Given the description of an element on the screen output the (x, y) to click on. 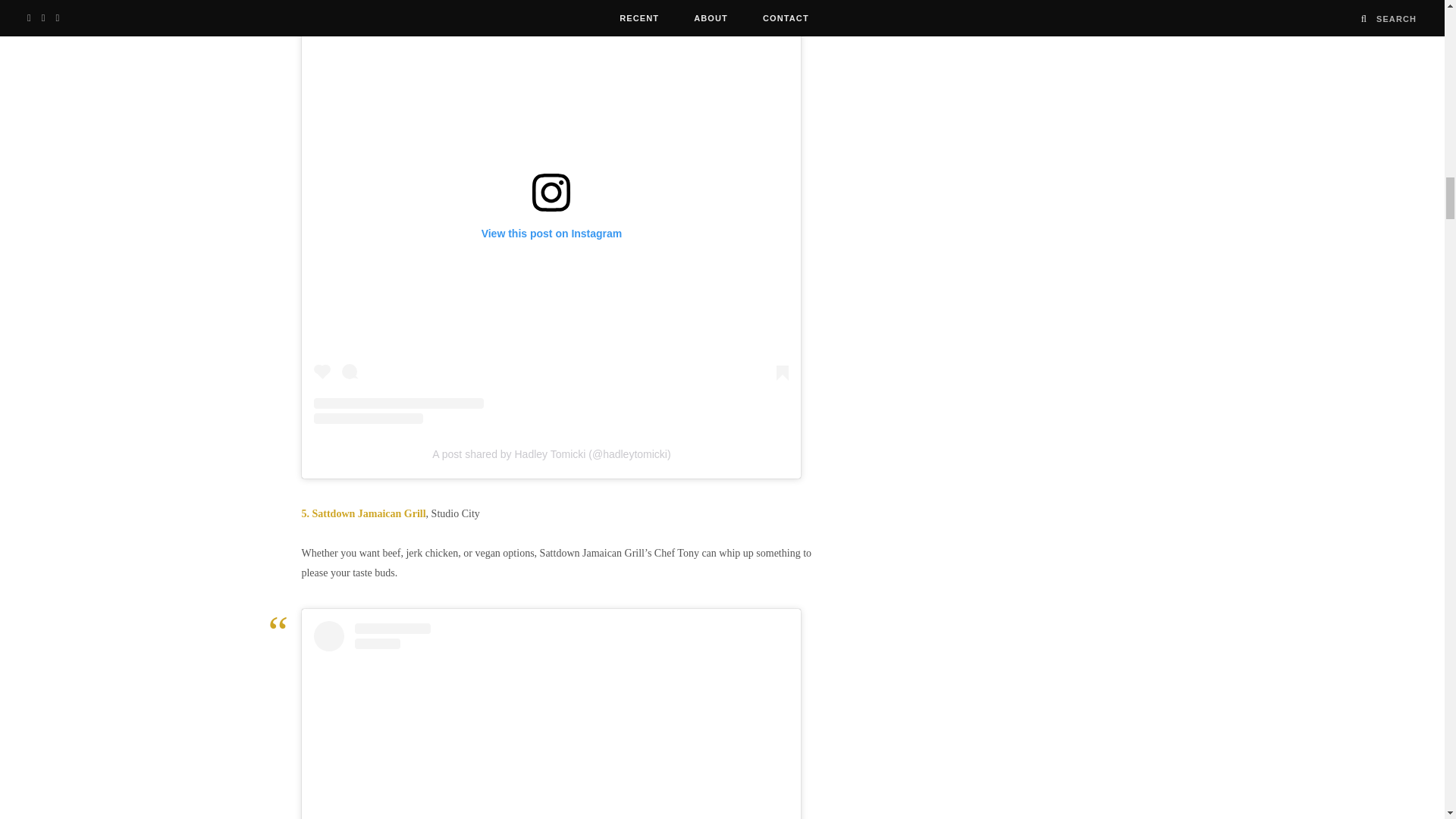
View this post on Instagram (551, 719)
5. Sattdown Jamaican Grill (363, 513)
